Given the description of an element on the screen output the (x, y) to click on. 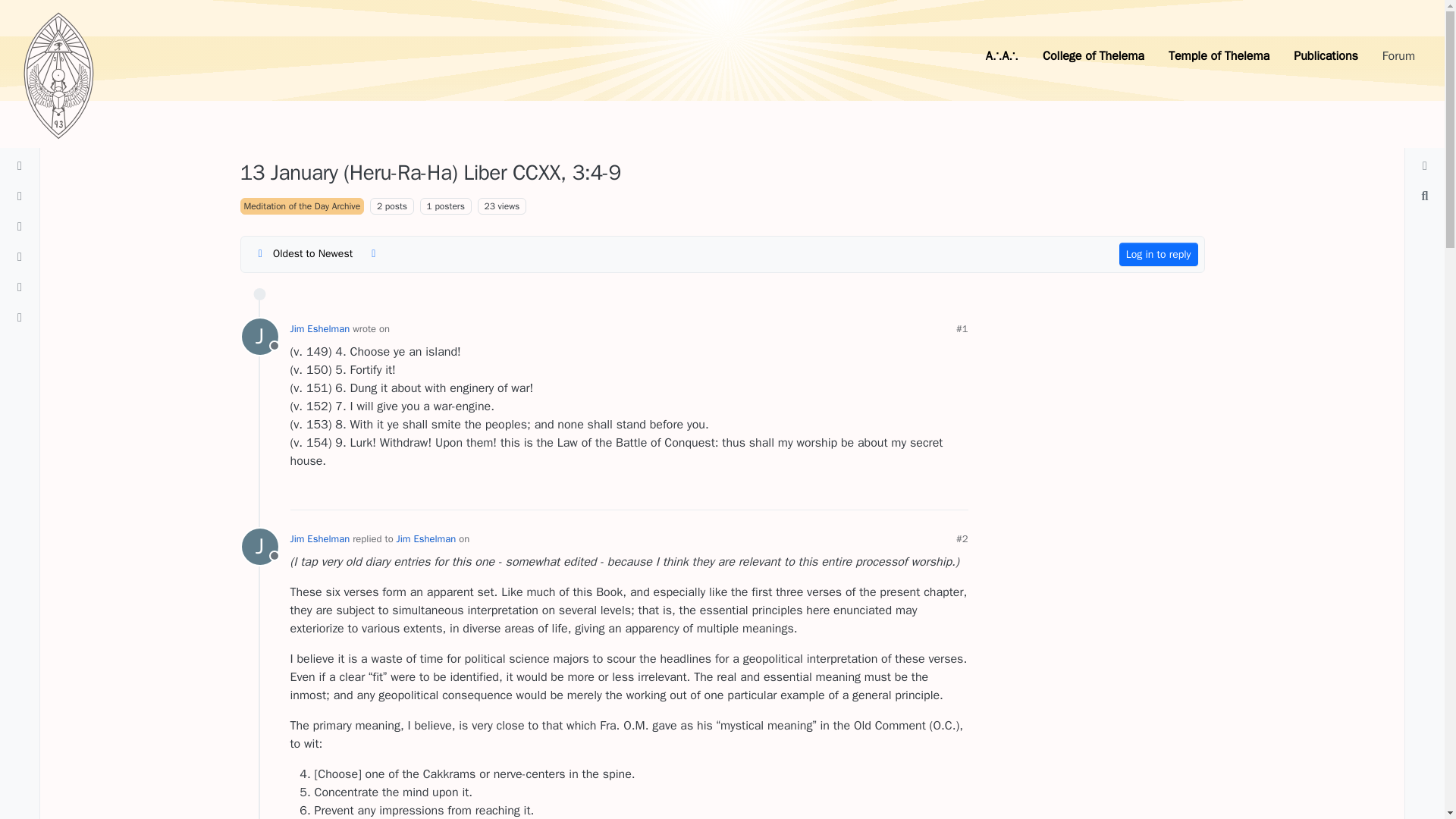
Recent (19, 196)
College of Thelema (1093, 55)
23 (489, 205)
Jim Eshelman (319, 328)
Publications (1325, 55)
1 (429, 205)
Groups (19, 317)
2 (379, 205)
Temple of Thelema (1218, 55)
RSS Feed (373, 253)
Oldest to Newest (303, 253)
Jim Eshelman (259, 546)
Tags (259, 336)
Users (19, 226)
